Given the description of an element on the screen output the (x, y) to click on. 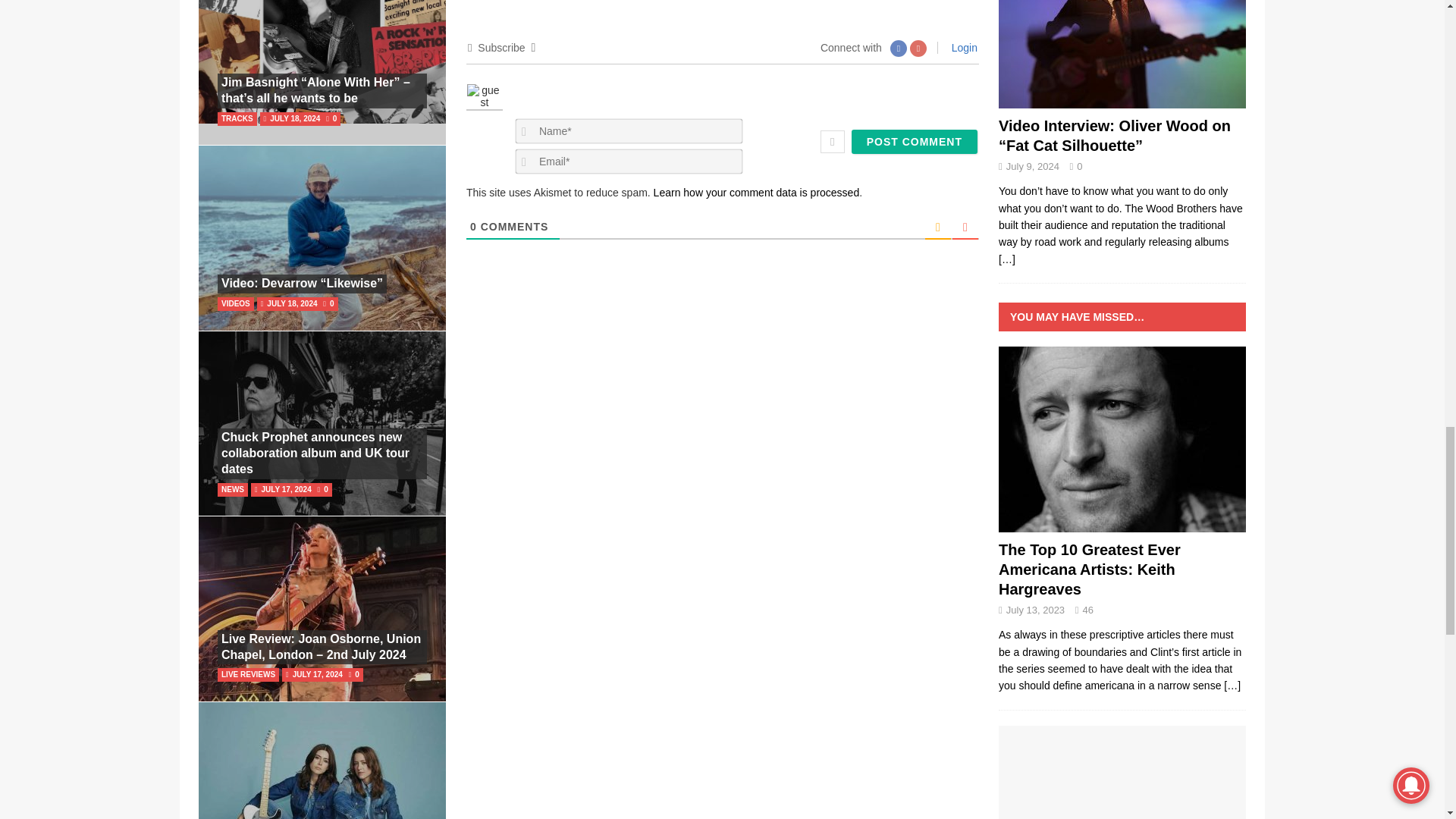
Post Comment (913, 141)
